Given the description of an element on the screen output the (x, y) to click on. 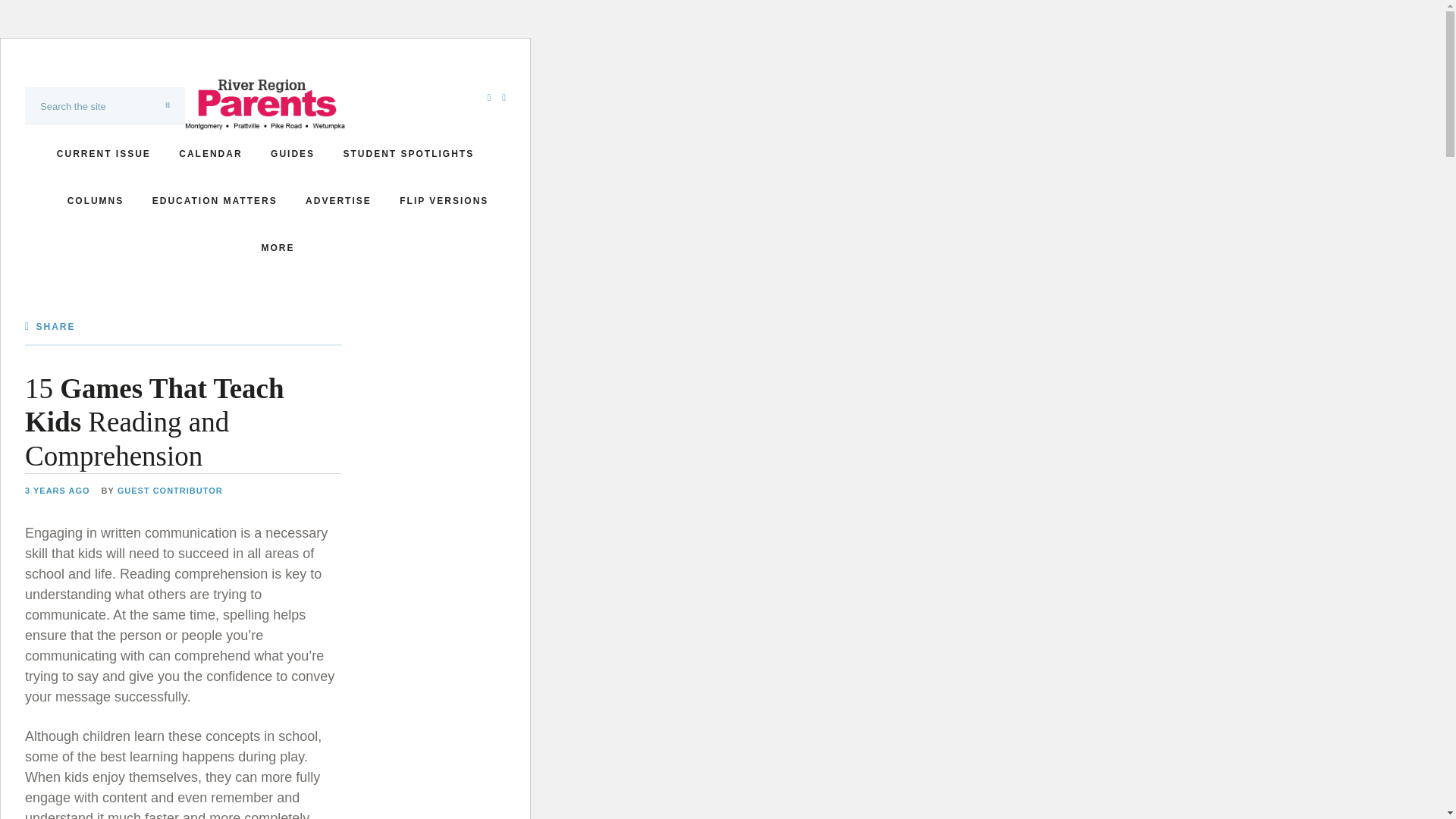
Posts by Guest Contributor (169, 490)
CURRENT ISSUE (103, 153)
CALENDAR (210, 153)
GUIDES (292, 153)
STUDENT SPOTLIGHTS (408, 153)
